Given the description of an element on the screen output the (x, y) to click on. 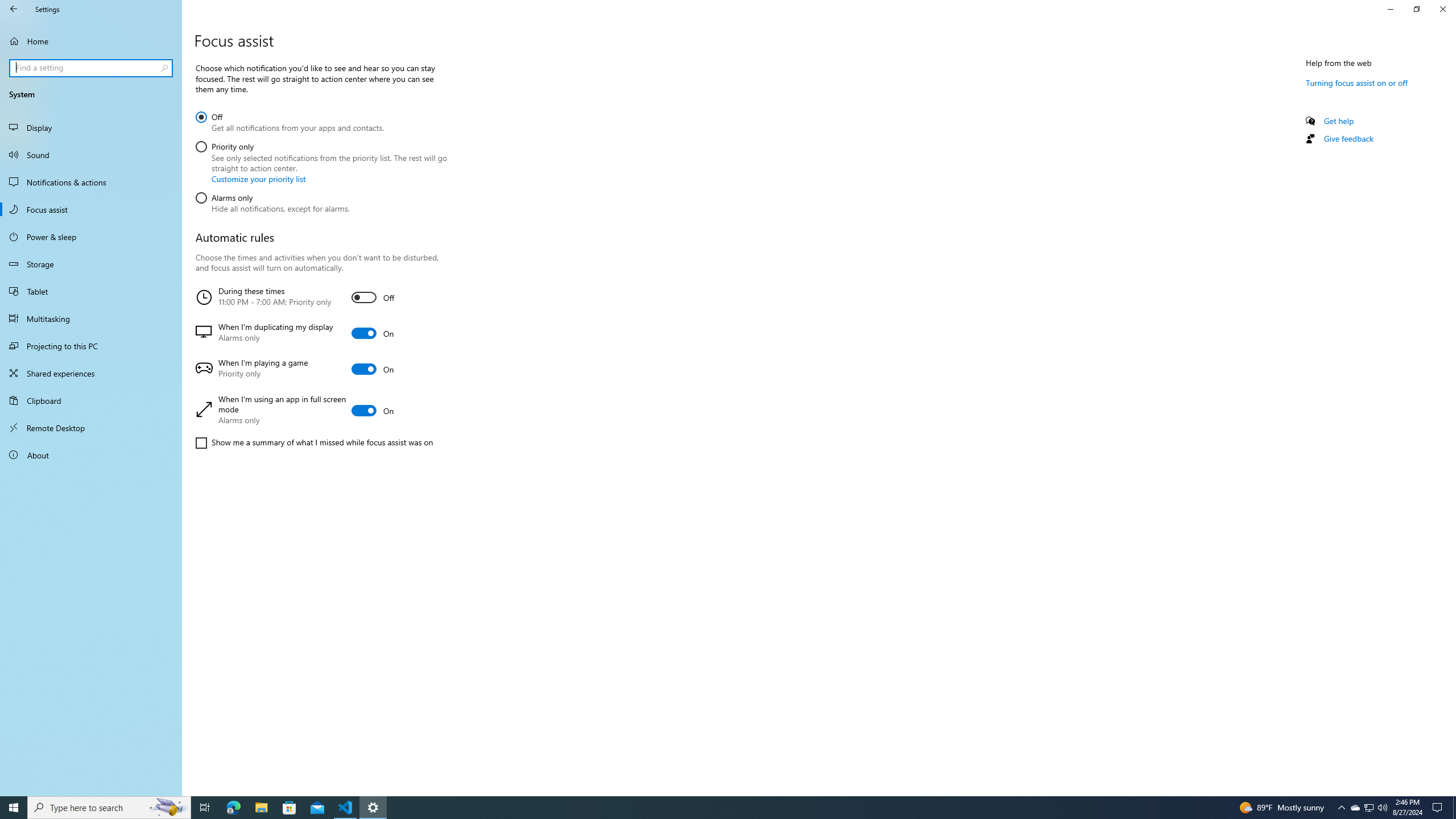
Sound (91, 154)
About (91, 454)
Multitasking (91, 318)
Notifications & actions (91, 181)
Remote Desktop (91, 427)
Show me a summary of what I missed while focus assist was on (314, 443)
Back (13, 9)
When I'm duplicating my display (319, 333)
Home (91, 40)
Tablet (91, 290)
Clipboard (91, 400)
